Given the description of an element on the screen output the (x, y) to click on. 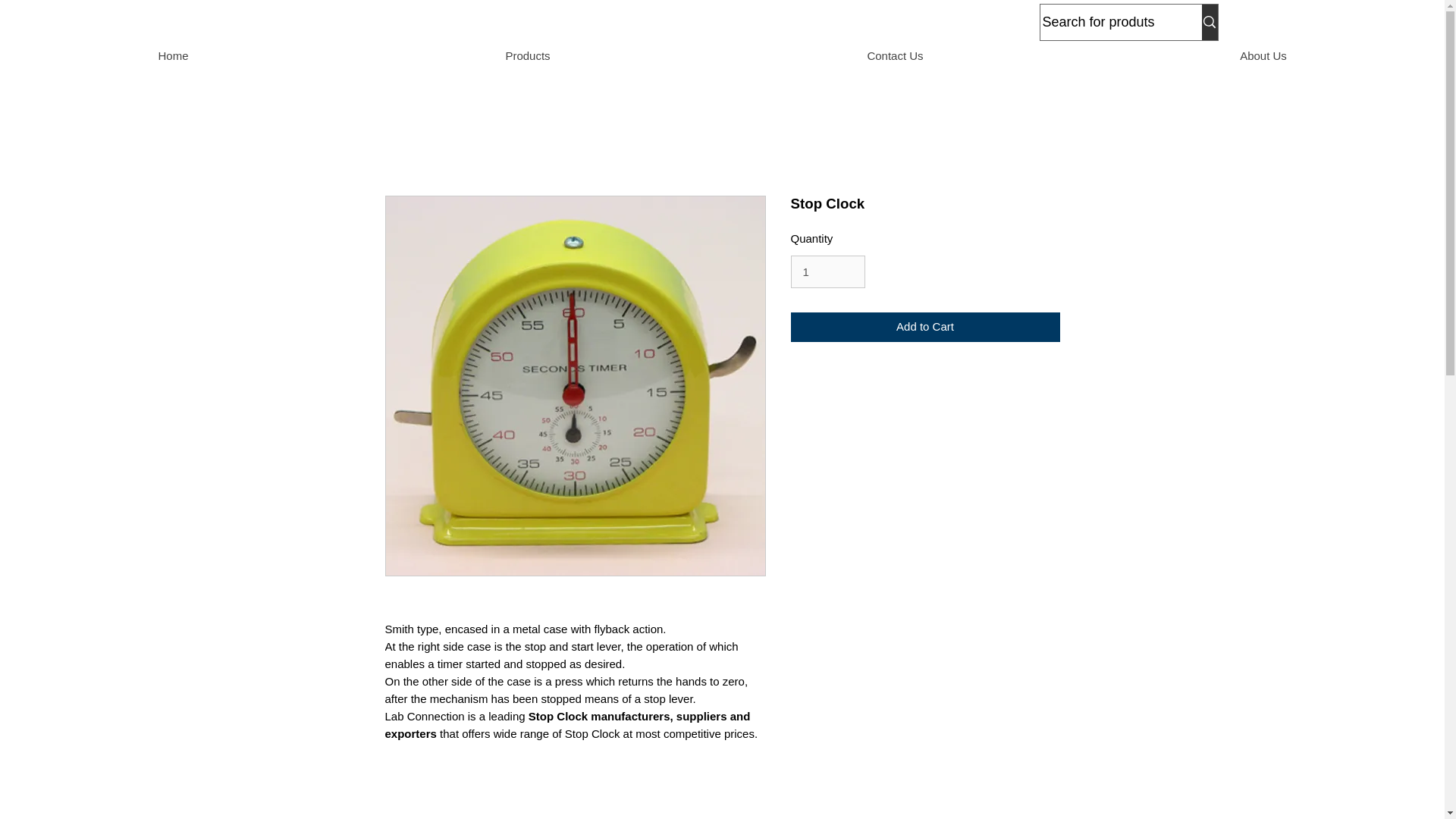
Products (526, 56)
1 (827, 272)
Contact Us (894, 56)
Home (173, 56)
Add to Cart (924, 327)
